Given the description of an element on the screen output the (x, y) to click on. 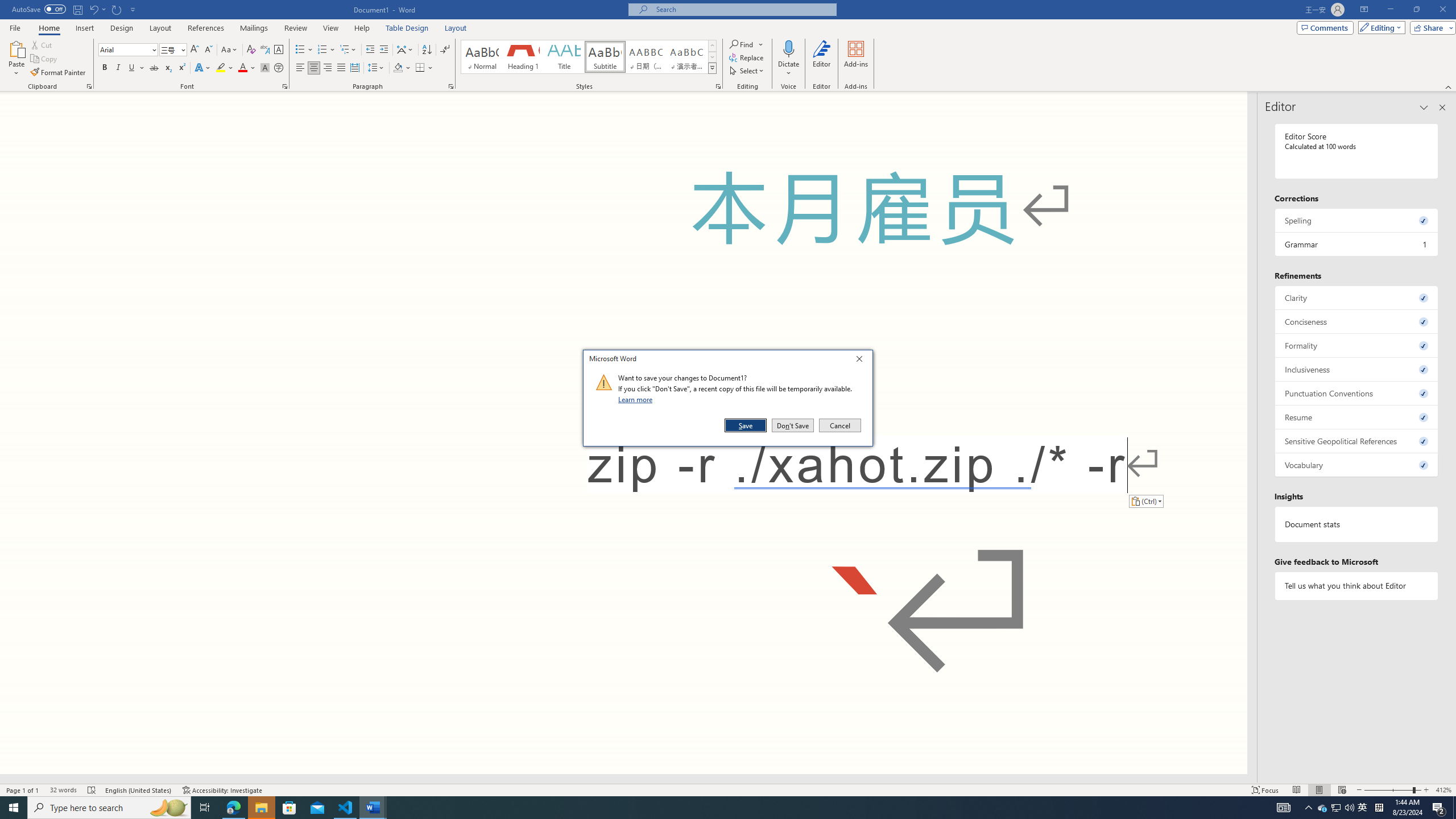
Resume, 0 issues. Press space or enter to review items. (1356, 417)
